Given the description of an element on the screen output the (x, y) to click on. 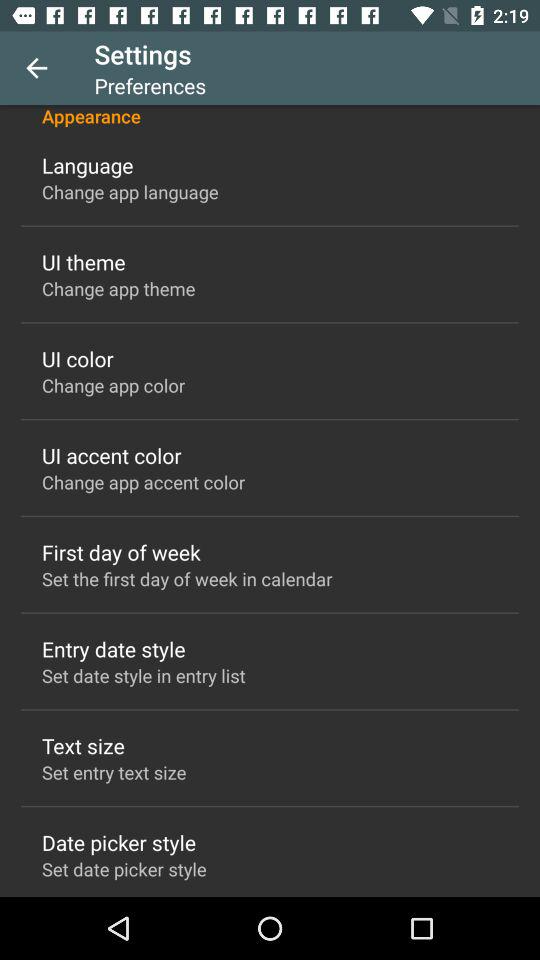
choose item above change app theme item (83, 261)
